Given the description of an element on the screen output the (x, y) to click on. 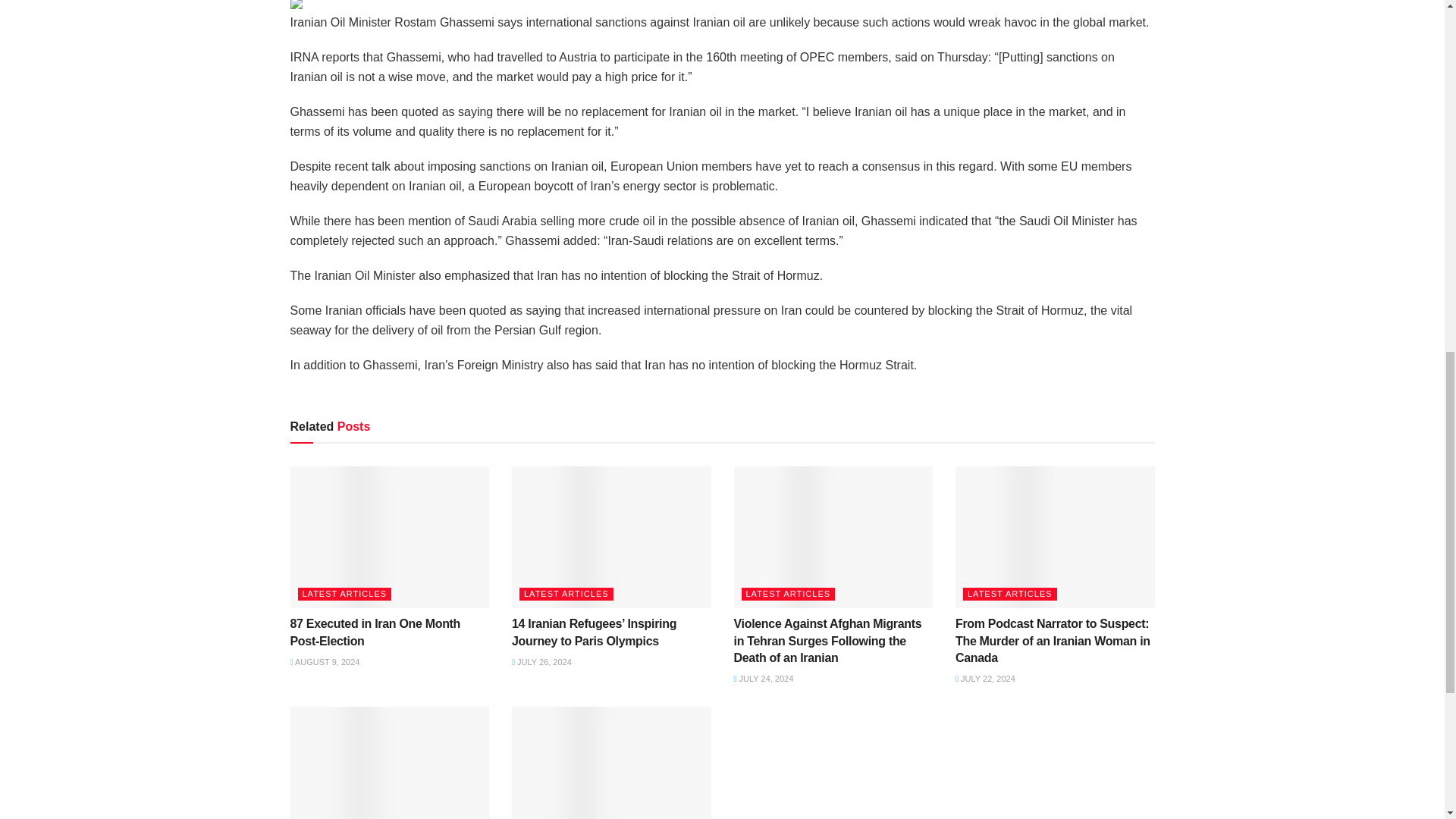
87 Executed in Iran One Month Post-Election (374, 632)
AUGUST 9, 2024 (324, 661)
LATEST ARTICLES (344, 594)
